Given the description of an element on the screen output the (x, y) to click on. 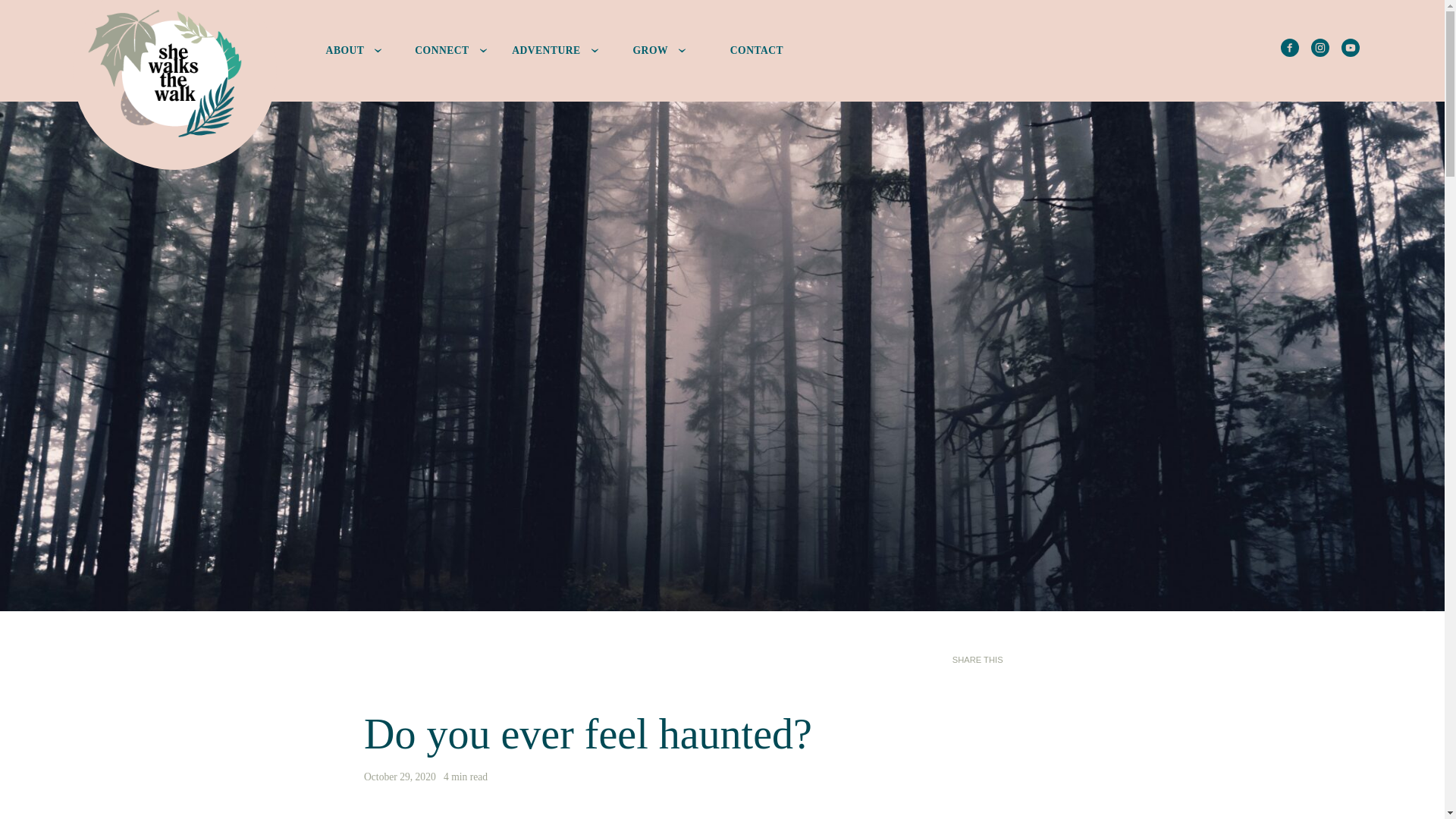
CONTACT (756, 50)
Click to share on LinkedIn (1019, 660)
GROW (659, 50)
Click to share on Twitter (1041, 660)
Click to share on Facebook (1063, 660)
ADVENTURE (555, 50)
CONNECT (451, 50)
ABOUT (354, 50)
